Given the description of an element on the screen output the (x, y) to click on. 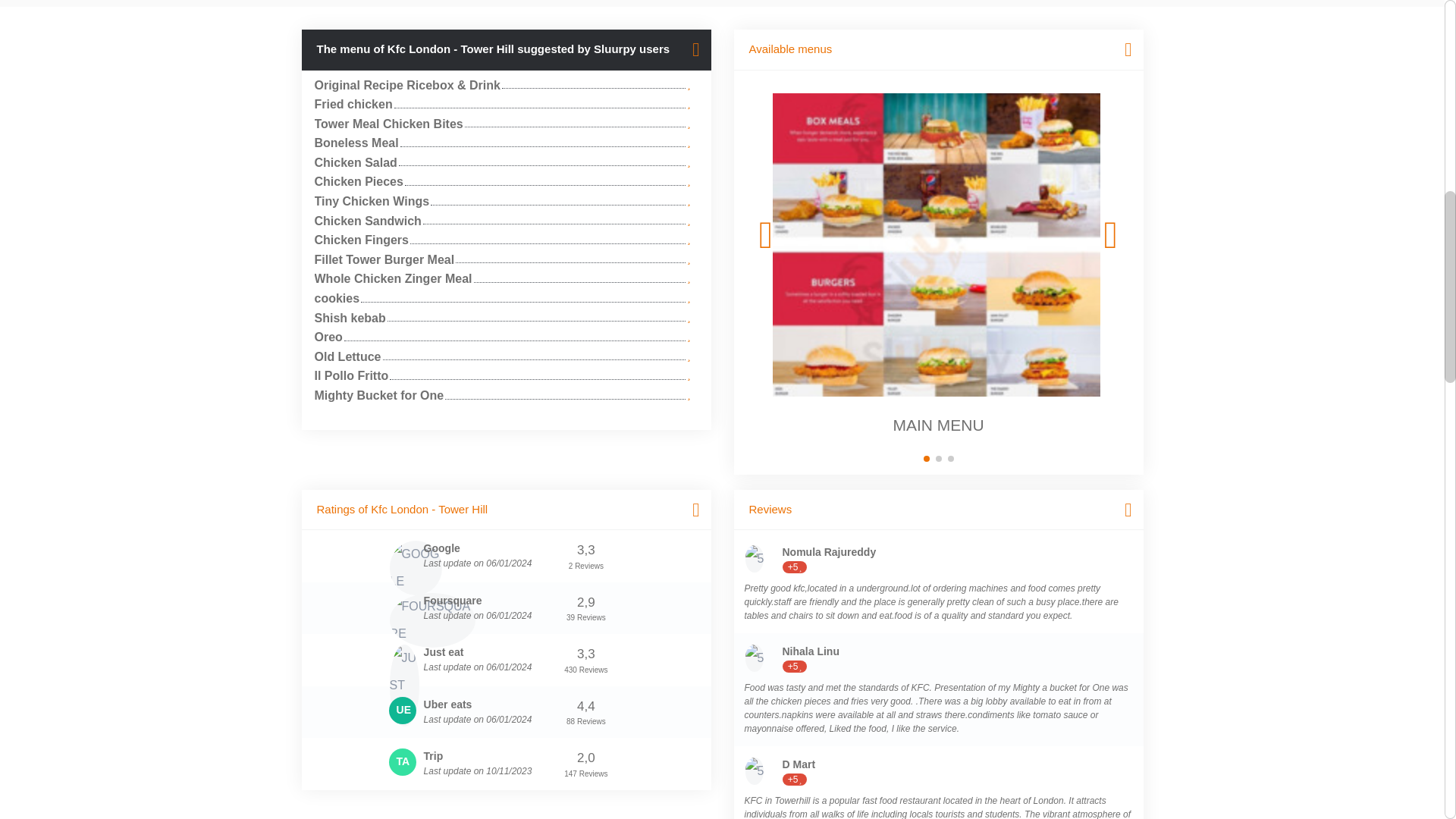
Foursquare (433, 619)
Main Menu (936, 243)
Google (416, 567)
Main Menu (938, 243)
